Given the description of an element on the screen output the (x, y) to click on. 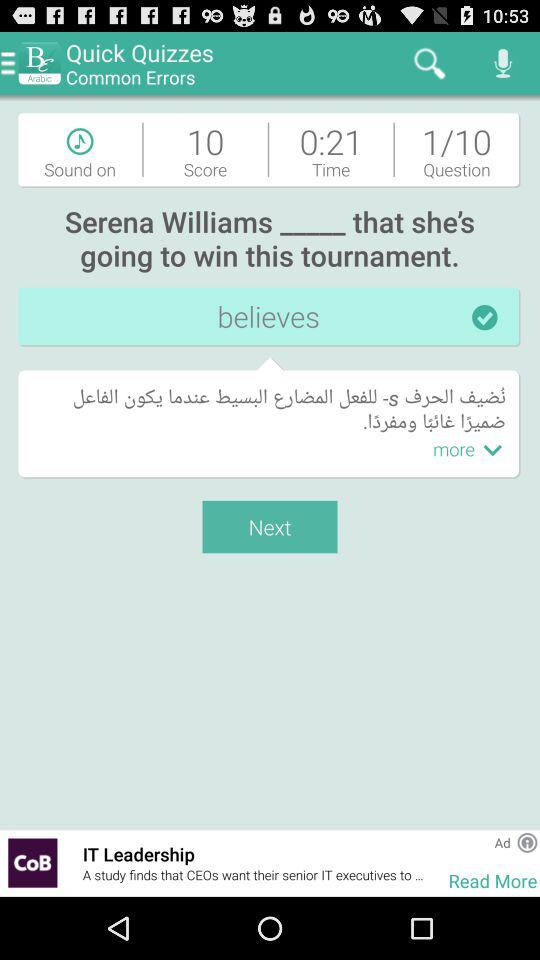
scroll until next icon (269, 526)
